Given the description of an element on the screen output the (x, y) to click on. 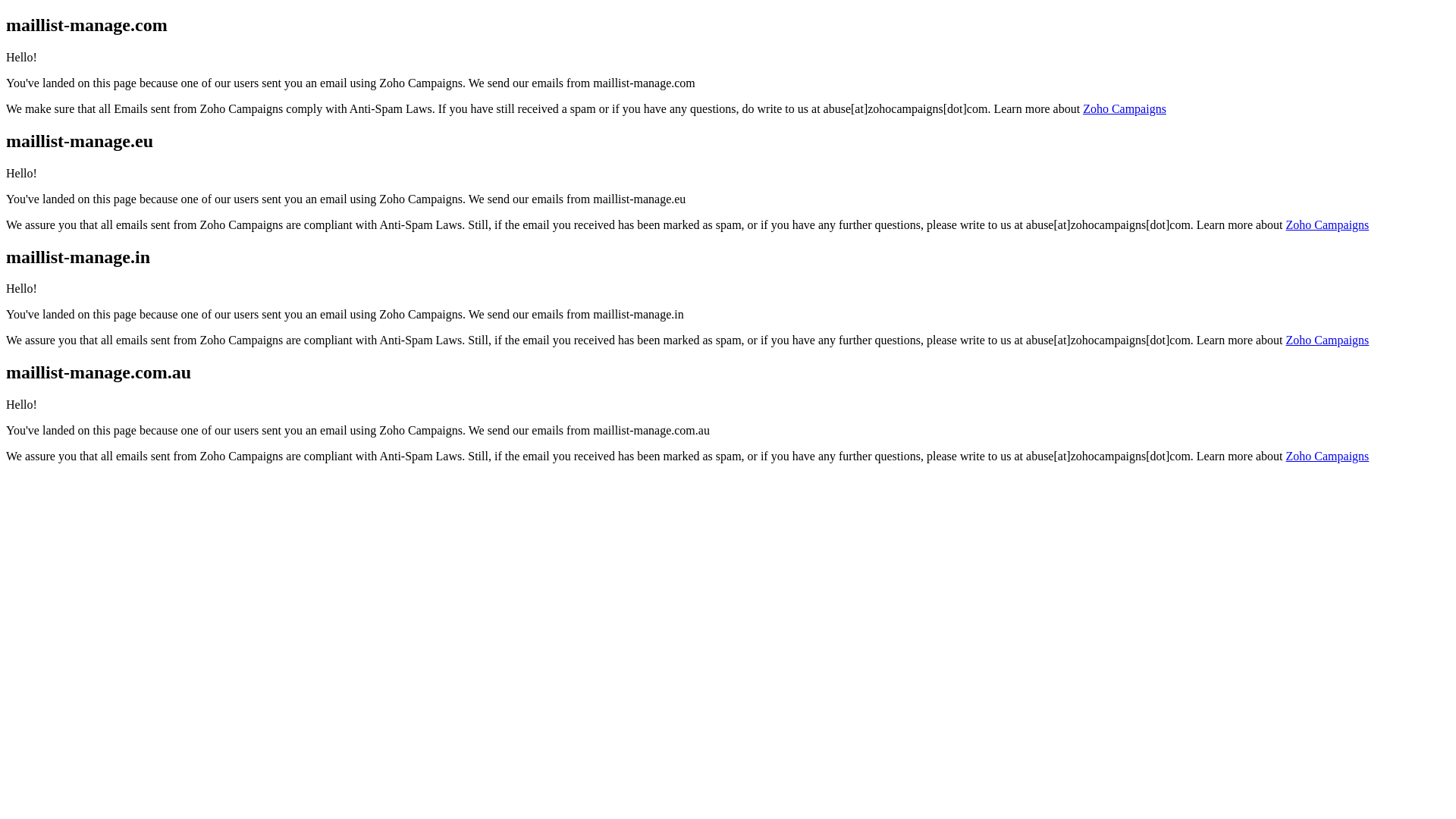
Zoho Campaigns Element type: text (1327, 224)
Zoho Campaigns Element type: text (1124, 108)
Zoho Campaigns Element type: text (1327, 339)
Zoho Campaigns Element type: text (1327, 455)
